Given the description of an element on the screen output the (x, y) to click on. 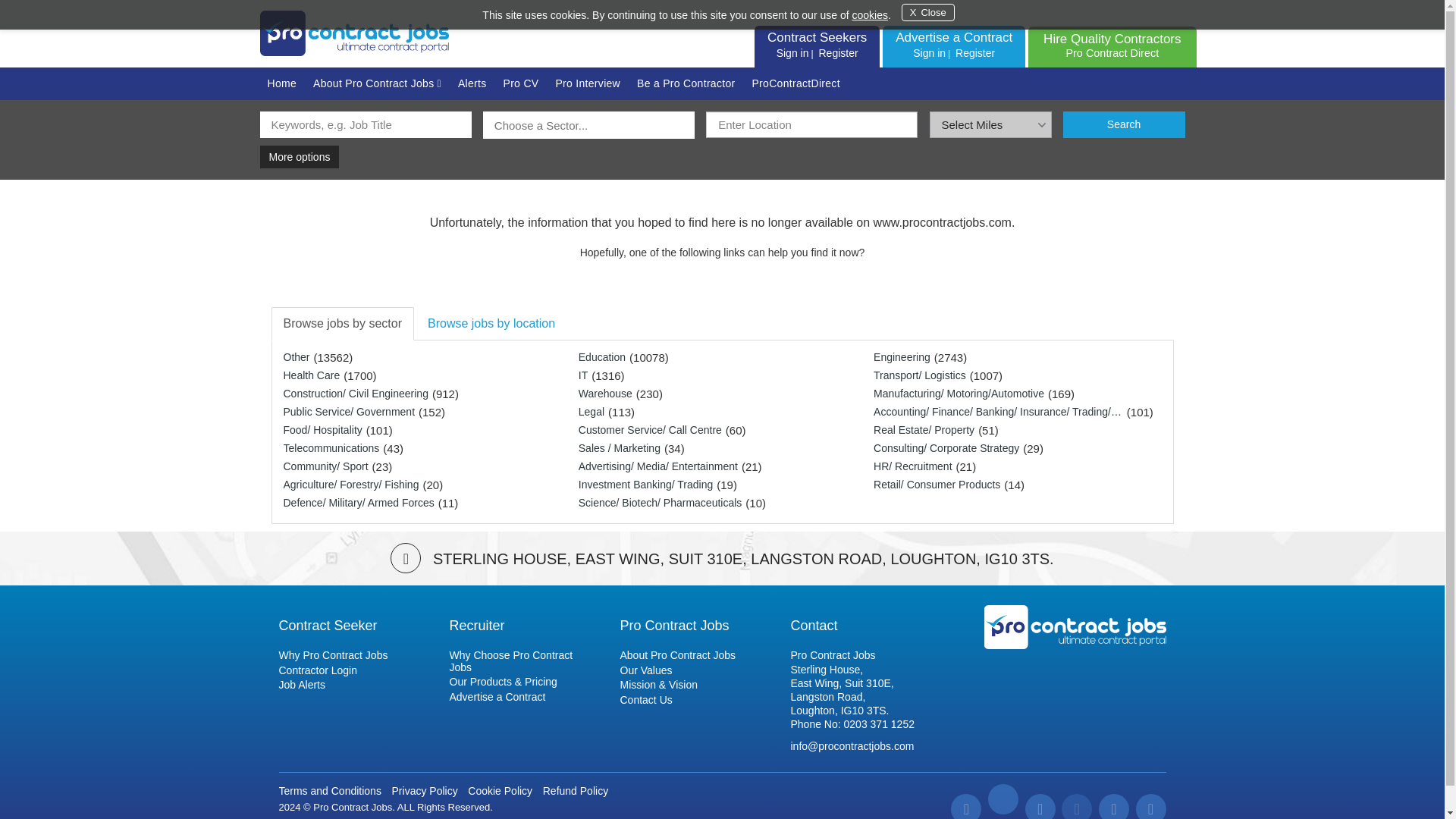
Advertise a Contract (953, 37)
Close (928, 12)
Search (1123, 124)
cookies (868, 15)
Pro CV (521, 82)
Alerts (472, 82)
Talenetic (400, 817)
Sign in (929, 52)
Home (1111, 45)
Register (281, 82)
Search (975, 52)
Be a Pro Contractor (1123, 124)
Sign in (685, 82)
ProContractDirect (792, 52)
